Given the description of an element on the screen output the (x, y) to click on. 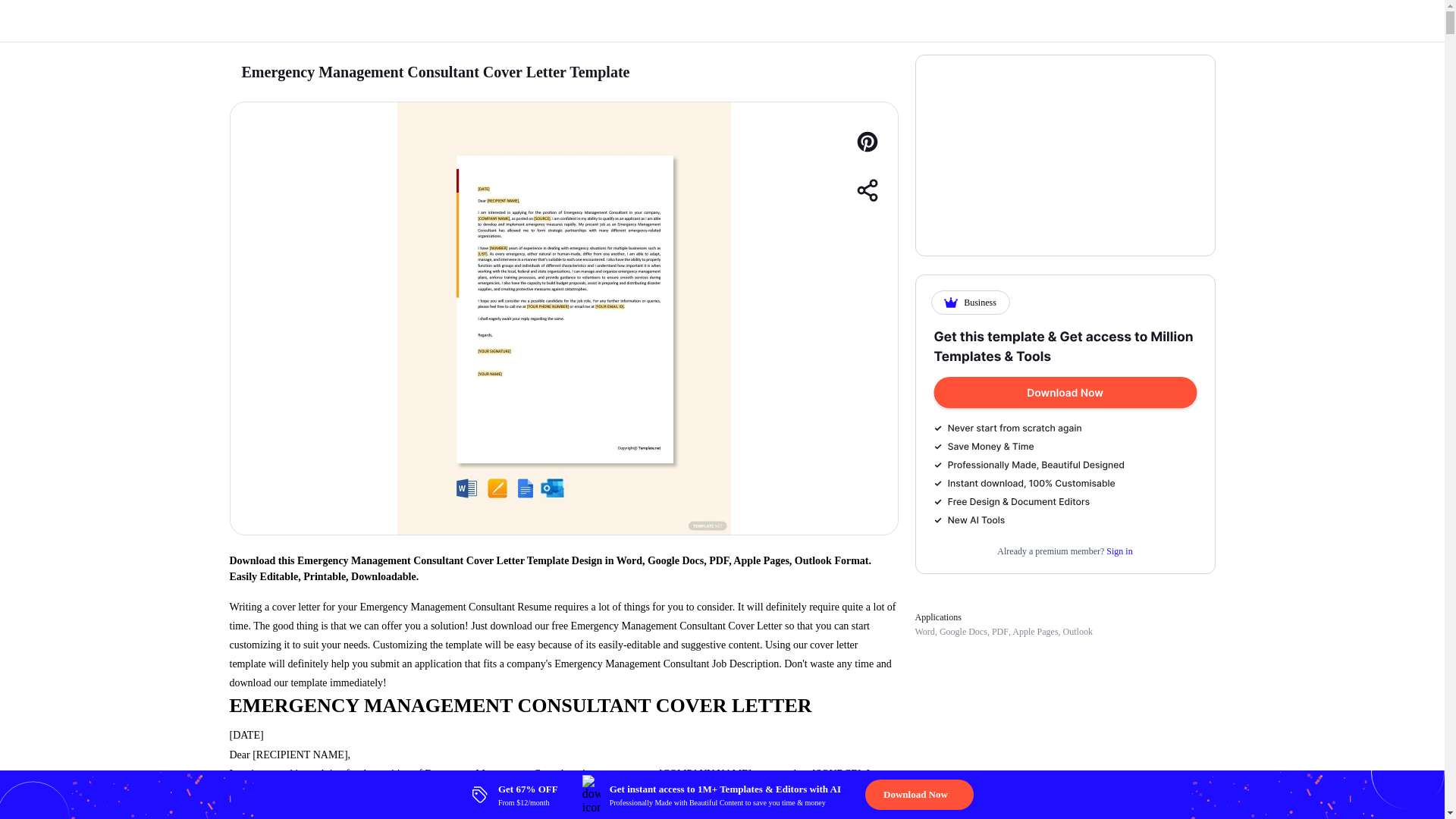
, Apple Pages (1033, 631)
, Google Docs (960, 631)
, PDF (998, 631)
, Outlook (1075, 631)
Word (924, 631)
Banner Pricing Bundle (1065, 427)
